Given the description of an element on the screen output the (x, y) to click on. 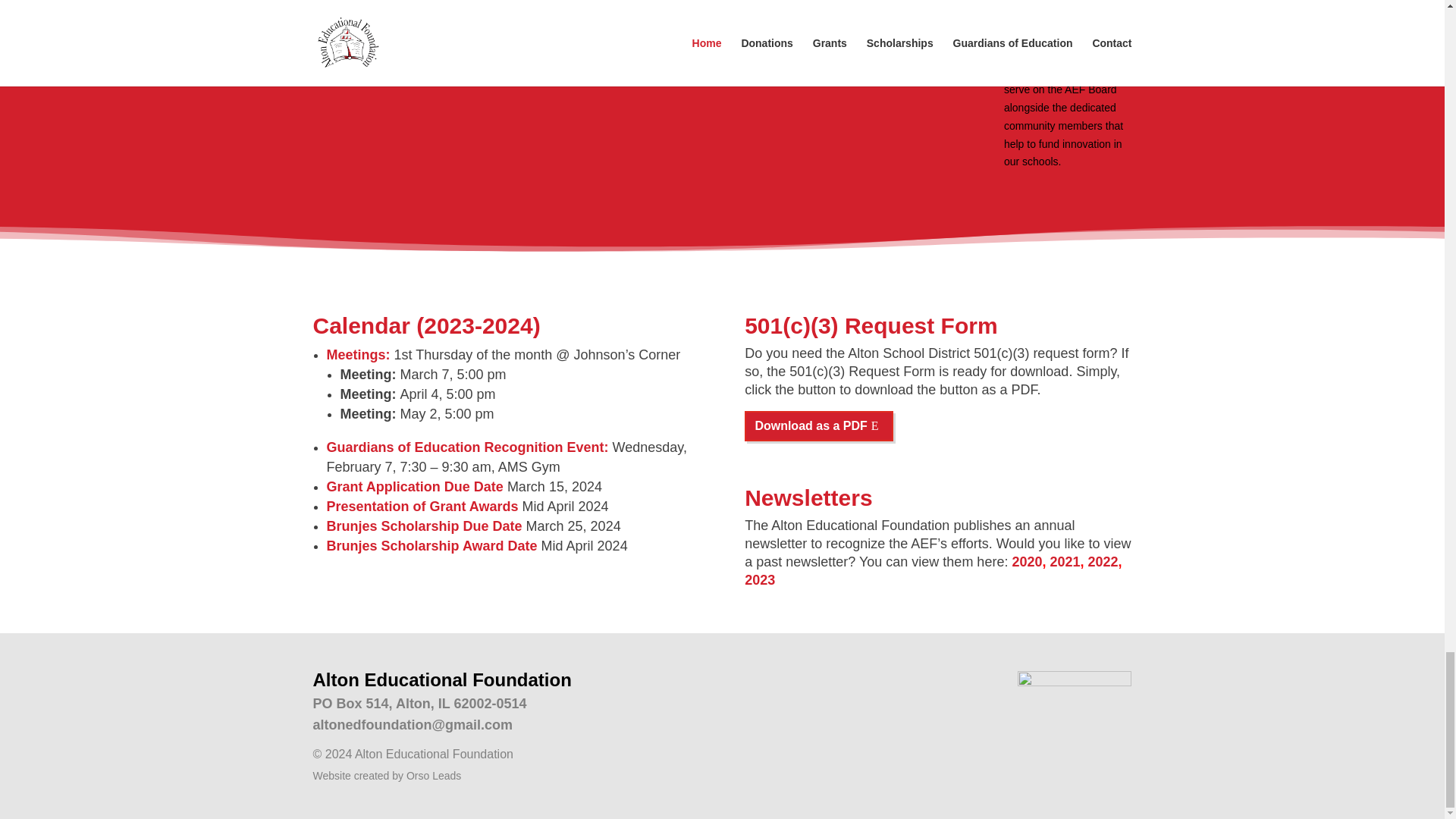
Orso Leads (433, 775)
2022 (1102, 561)
2021 (1064, 561)
2020 (1026, 561)
2023 (759, 580)
Download as a PDF (818, 426)
